Given the description of an element on the screen output the (x, y) to click on. 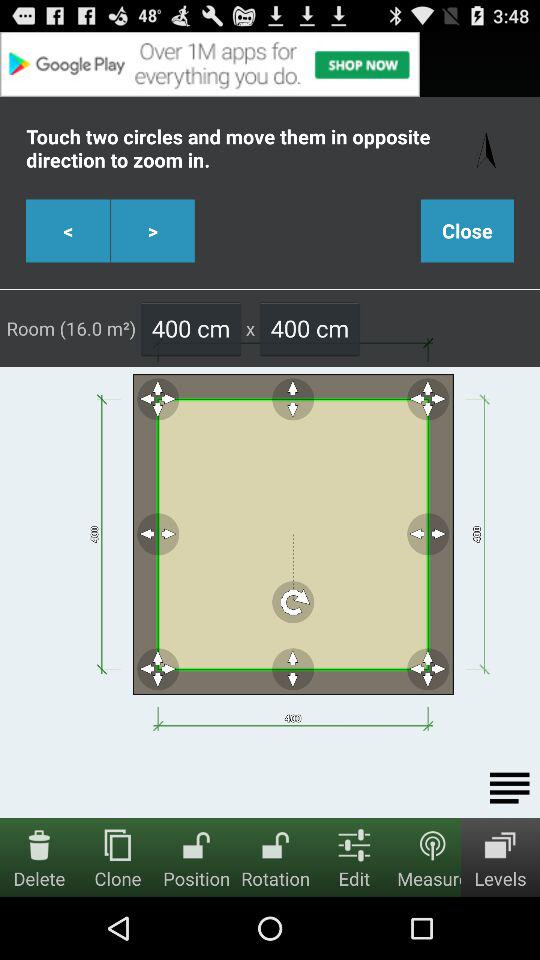
click on the advertisement (270, 64)
